Given the description of an element on the screen output the (x, y) to click on. 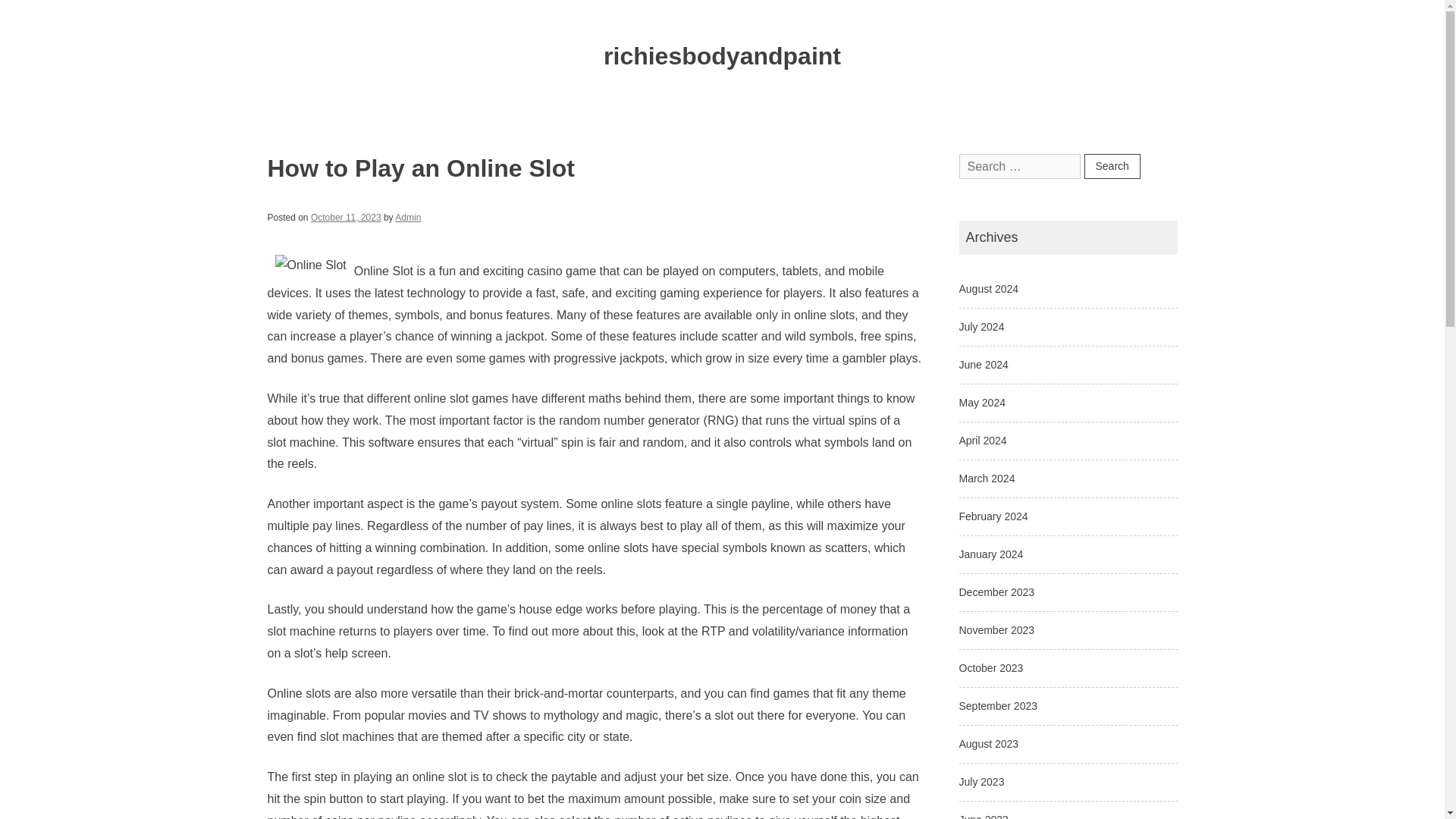
May 2024 (981, 402)
October 2023 (990, 667)
March 2024 (986, 478)
July 2024 (981, 326)
November 2023 (995, 630)
July 2023 (981, 781)
September 2023 (997, 705)
January 2024 (990, 553)
richiesbodyandpaint (722, 55)
August 2023 (987, 743)
